Given the description of an element on the screen output the (x, y) to click on. 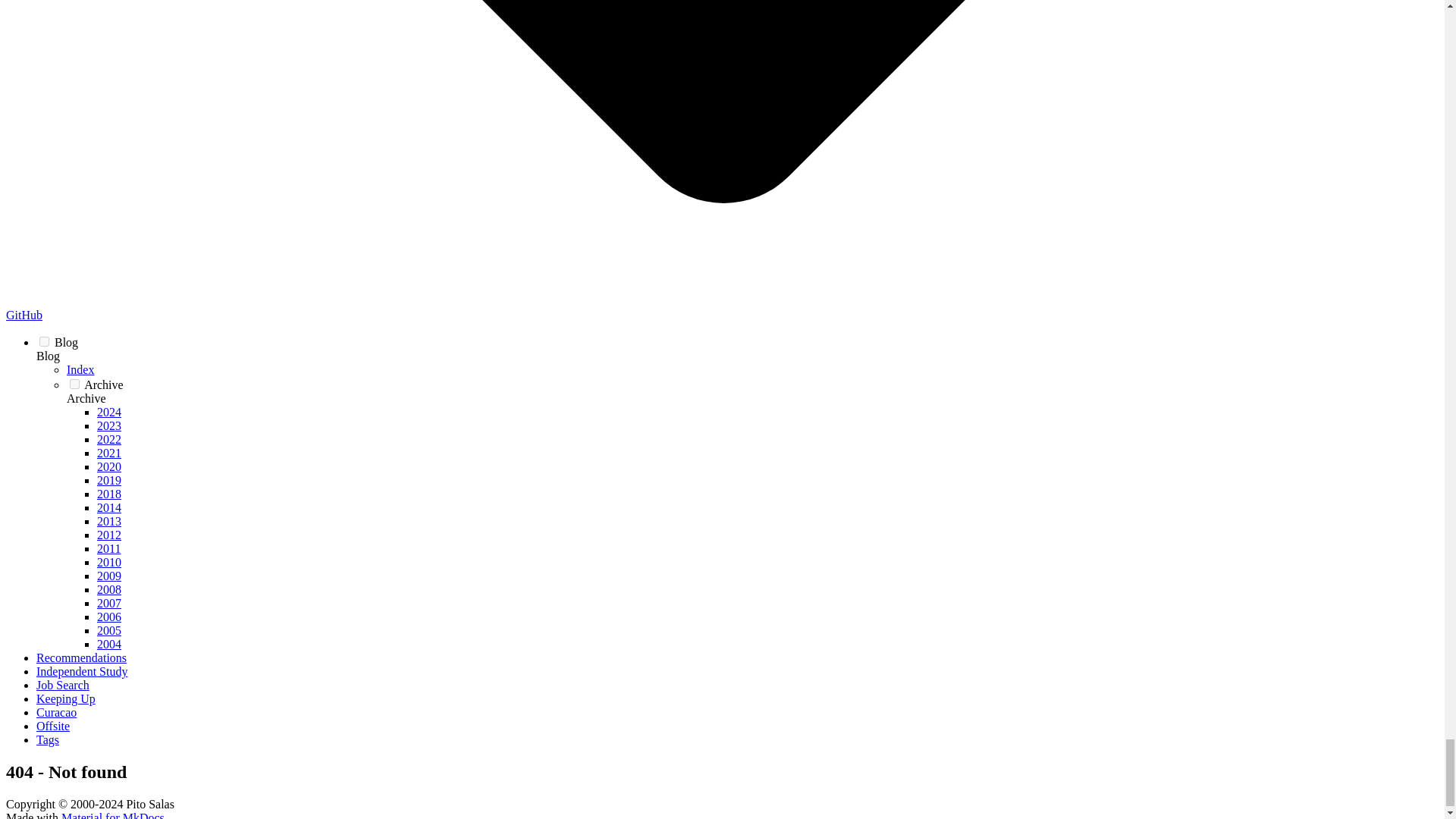
Job Search (62, 684)
2005 (108, 630)
2019 (108, 480)
2006 (108, 616)
2012 (108, 534)
Offsite (52, 725)
Keeping Up (66, 698)
Curacao (56, 712)
2004 (108, 644)
Recommendations (81, 657)
